Given the description of an element on the screen output the (x, y) to click on. 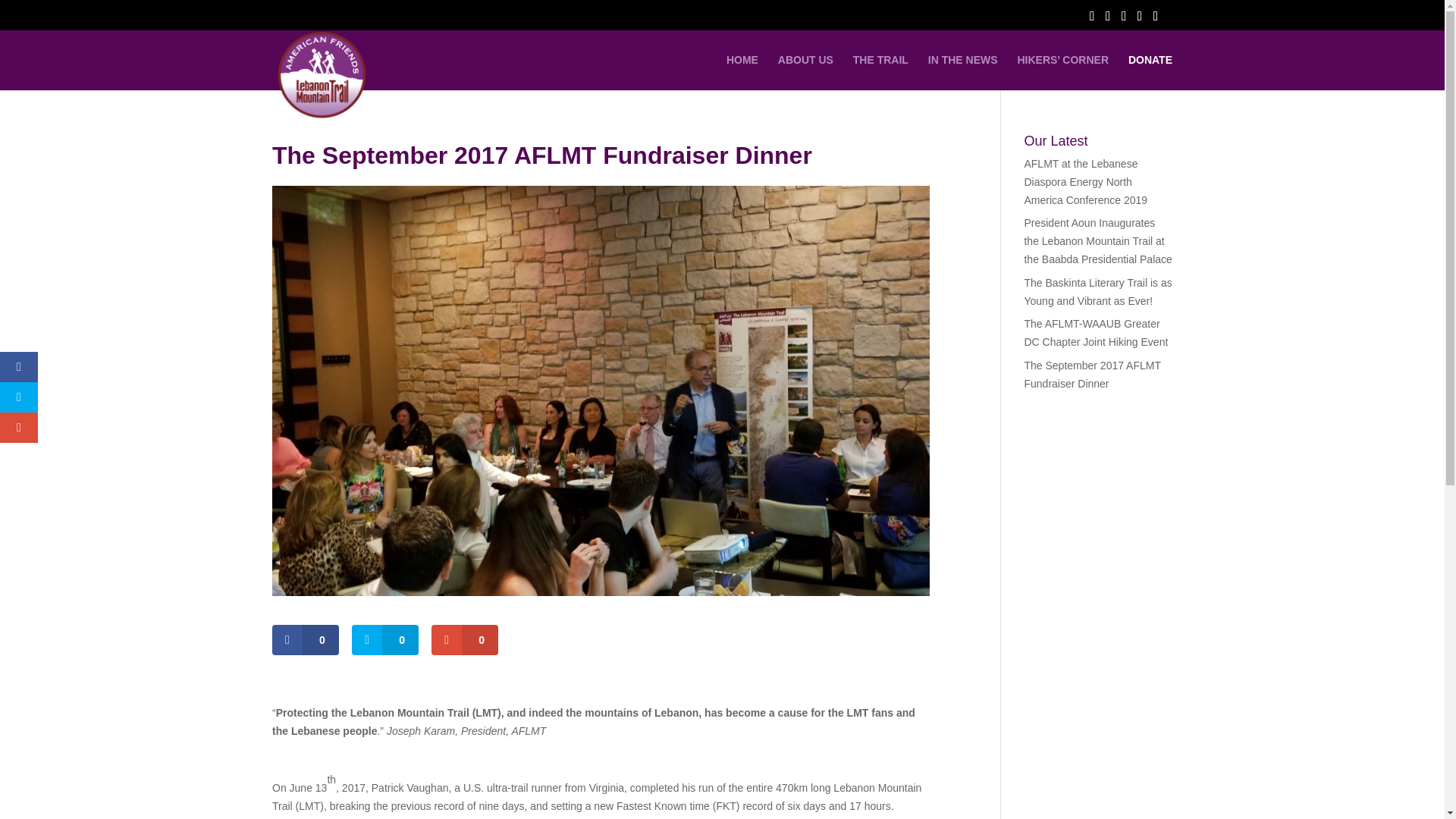
0 (463, 639)
The September 2017 AFLMT Fundraiser Dinner (1091, 374)
The AFLMT-WAAUB Greater DC Chapter Joint Hiking Event (1095, 332)
0 (385, 639)
DONATE (1150, 72)
HOME (742, 72)
ABOUT US (804, 72)
THE TRAIL (880, 72)
IN THE NEWS (962, 72)
0 (305, 639)
The Baskinta Literary Trail is as Young and Vibrant as Ever! (1097, 291)
